Given the description of an element on the screen output the (x, y) to click on. 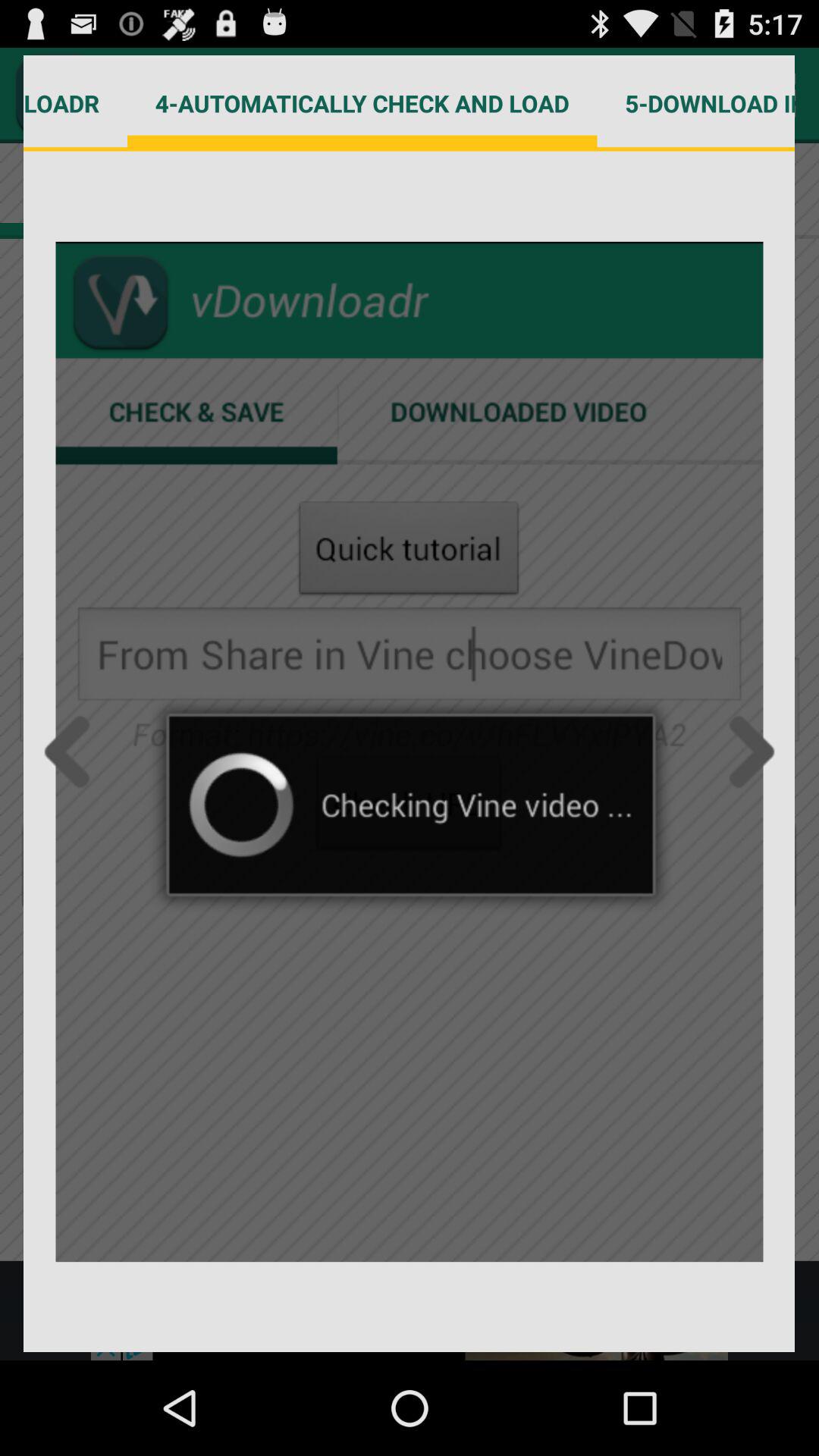
launch 3-choose vdownloadr icon (75, 103)
